Given the description of an element on the screen output the (x, y) to click on. 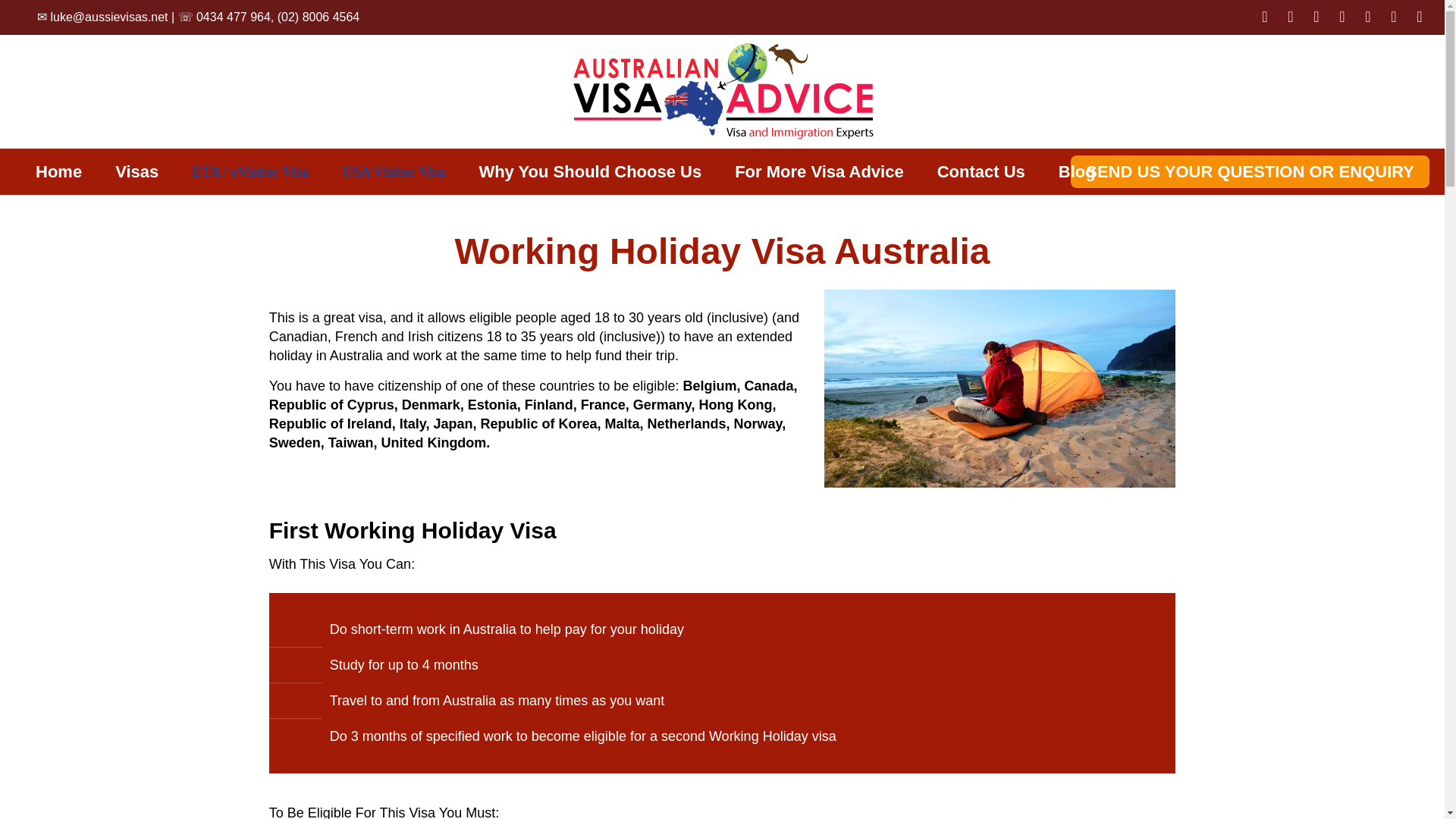
Blog (1076, 172)
YouTube (1316, 17)
USA Visitor Visa (394, 172)
Home (58, 172)
Contact Us (981, 172)
Facebook (1264, 17)
Instagram (1394, 17)
LinkedIn (1342, 17)
SEND US YOUR QUESTION OR ENQUIRY (1249, 171)
Twitter (1290, 17)
Pinterest (1367, 17)
Working Holiday2 (1000, 388)
Why You Should Choose Us (589, 172)
For More Visa Advice (818, 172)
Tumblr (1419, 17)
